Given the description of an element on the screen output the (x, y) to click on. 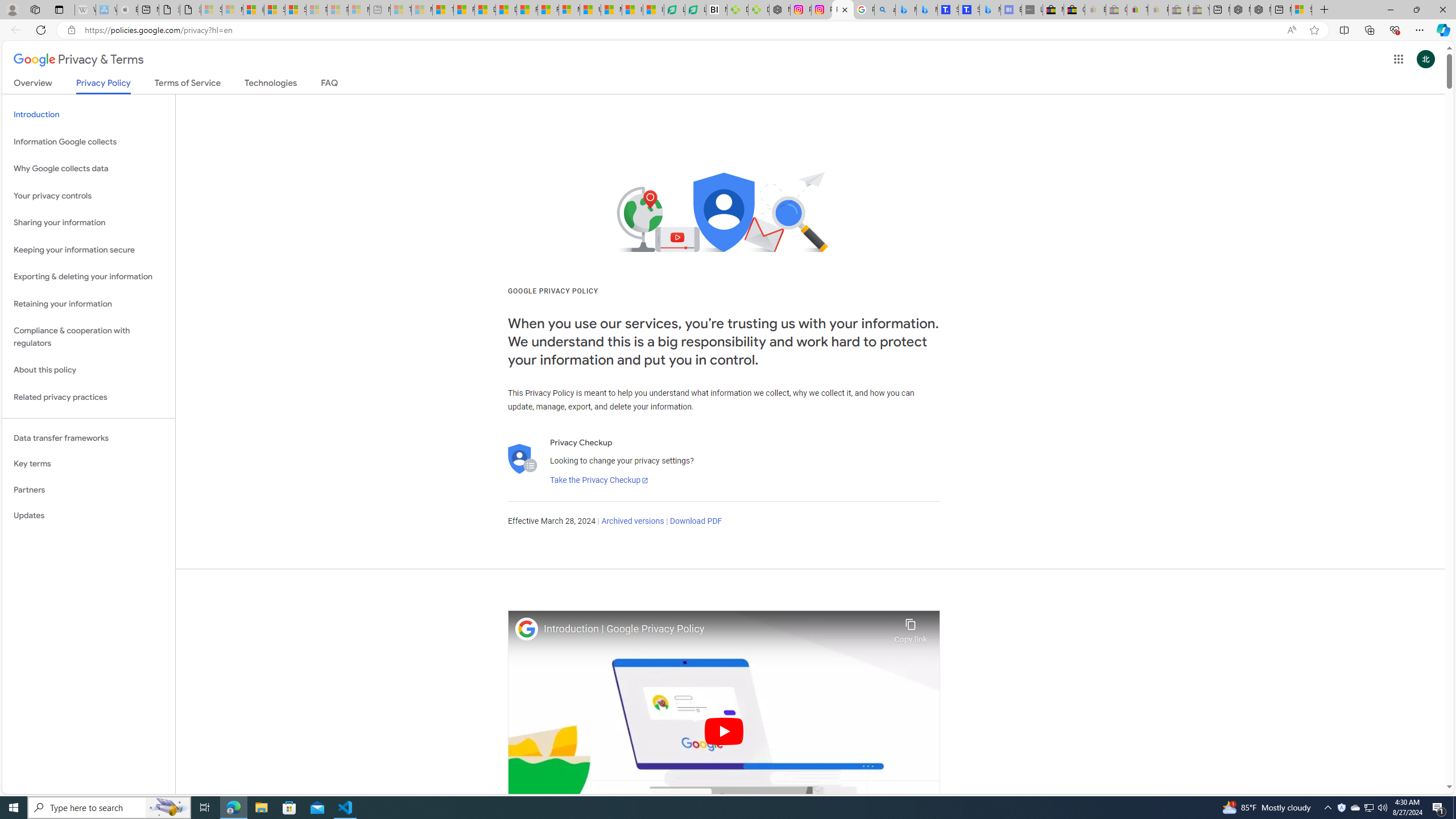
Top Stories - MSN - Sleeping (400, 9)
Food and Drink - MSN (463, 9)
Class: gb_E (1398, 59)
Introduction (88, 114)
Yard, Garden & Outdoor Living - Sleeping (1198, 9)
Compliance & cooperation with regulators (88, 337)
